Given the description of an element on the screen output the (x, y) to click on. 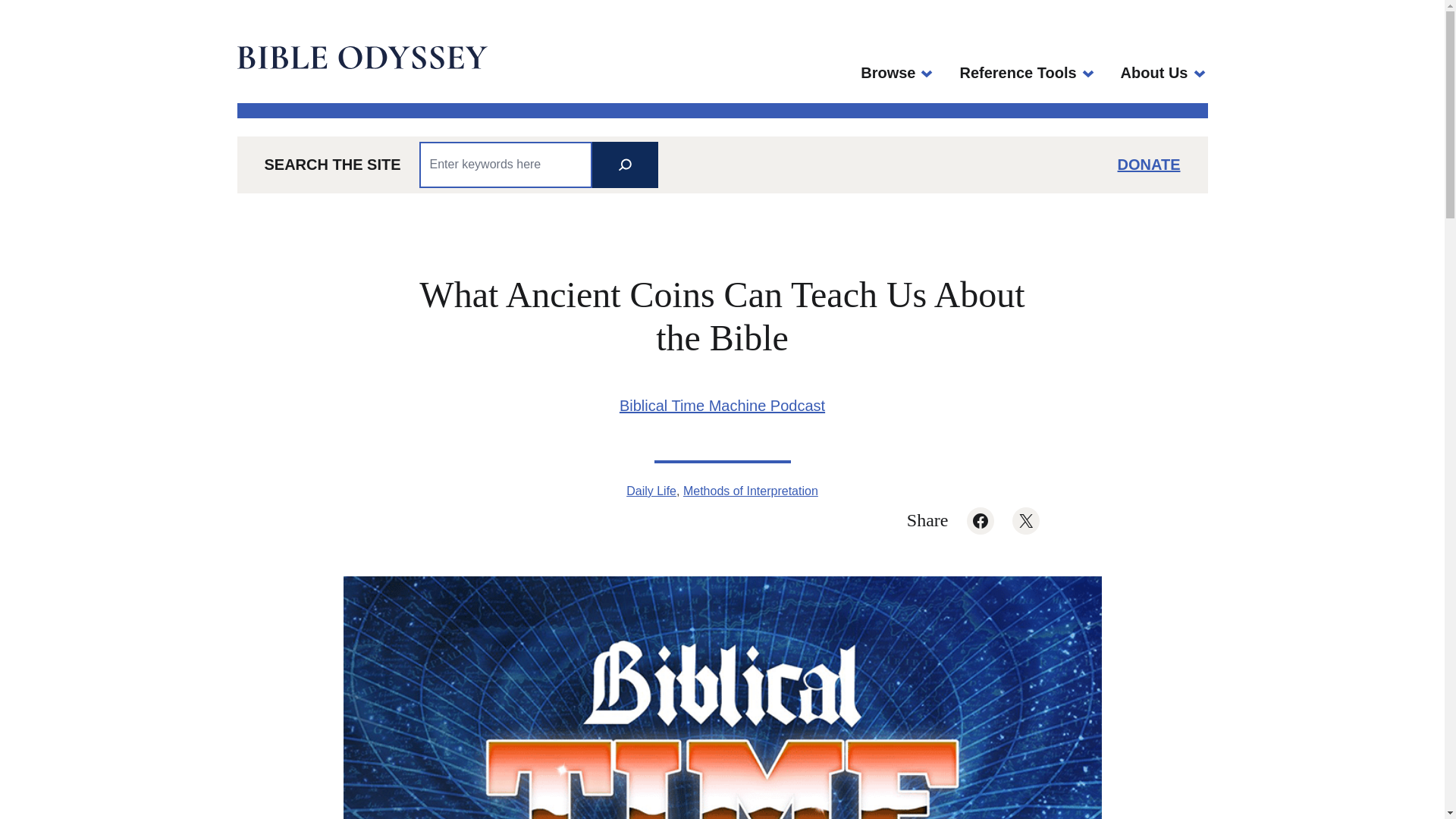
Reference Tools (1017, 72)
About Us (1154, 72)
Share on Facebook (979, 520)
 - opens in a new window (1025, 520)
Biblical Time Machine Podcast (722, 405)
DONATE (1149, 164)
Daily Life (651, 490)
Methods of Interpretation (750, 490)
Browse (887, 72)
Share on Twitter (1025, 520)
 - opens in a new window (979, 520)
